Given the description of an element on the screen output the (x, y) to click on. 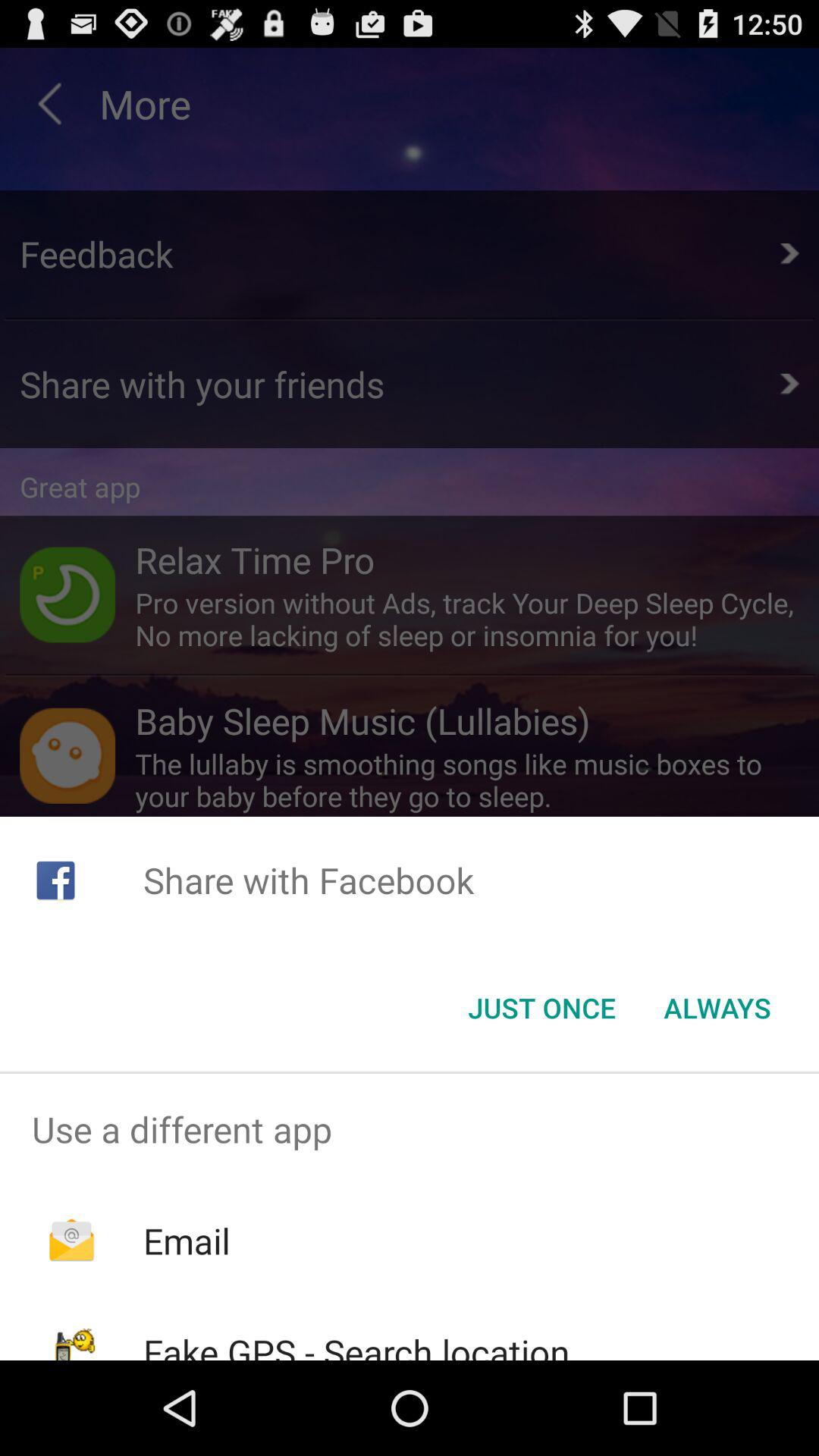
swipe until email item (186, 1240)
